Given the description of an element on the screen output the (x, y) to click on. 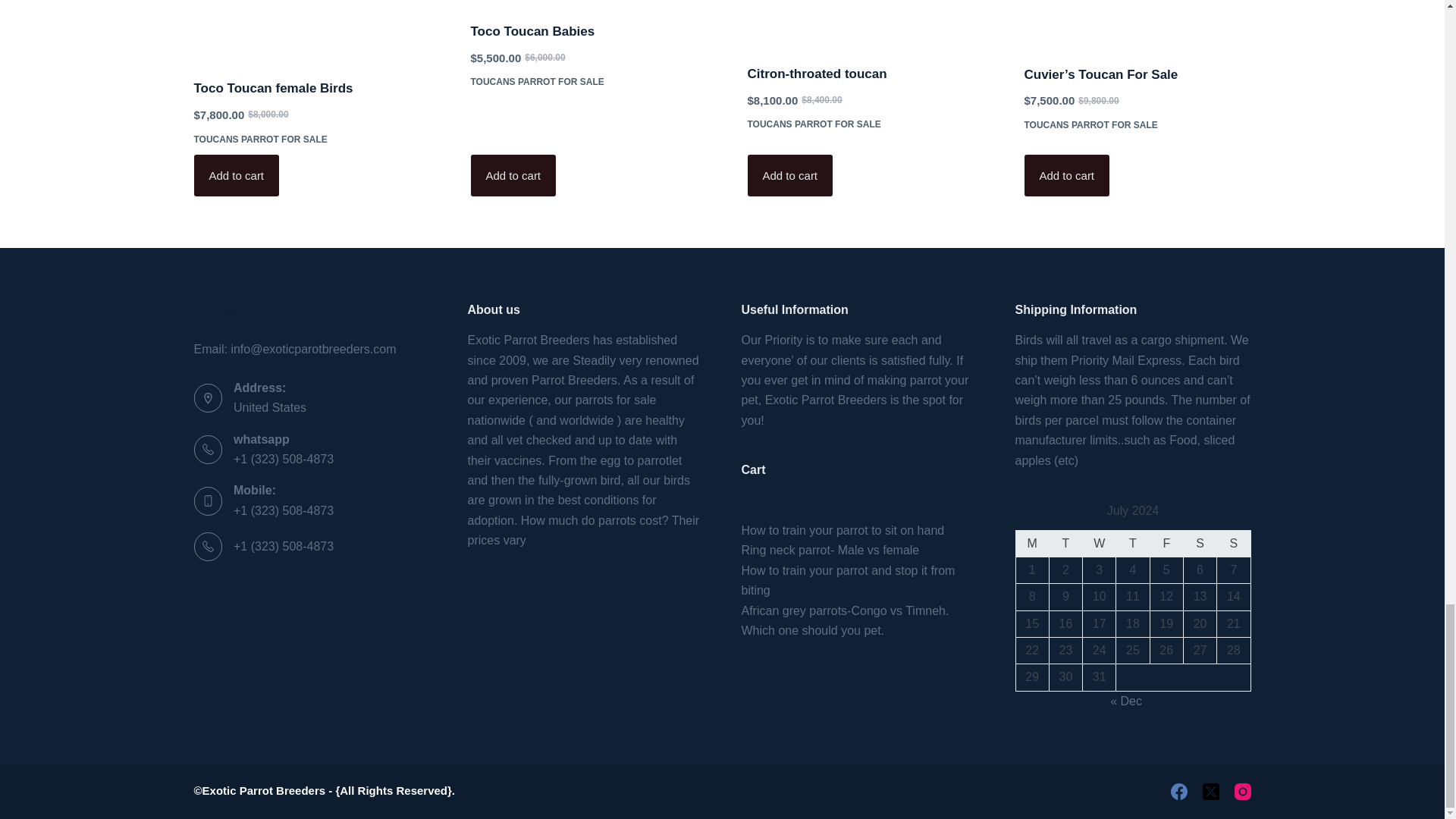
Monday (1031, 542)
Saturday (1198, 542)
Friday (1166, 542)
Sunday (1233, 542)
Wednesday (1099, 542)
Thursday (1133, 542)
Tuesday (1064, 542)
